Given the description of an element on the screen output the (x, y) to click on. 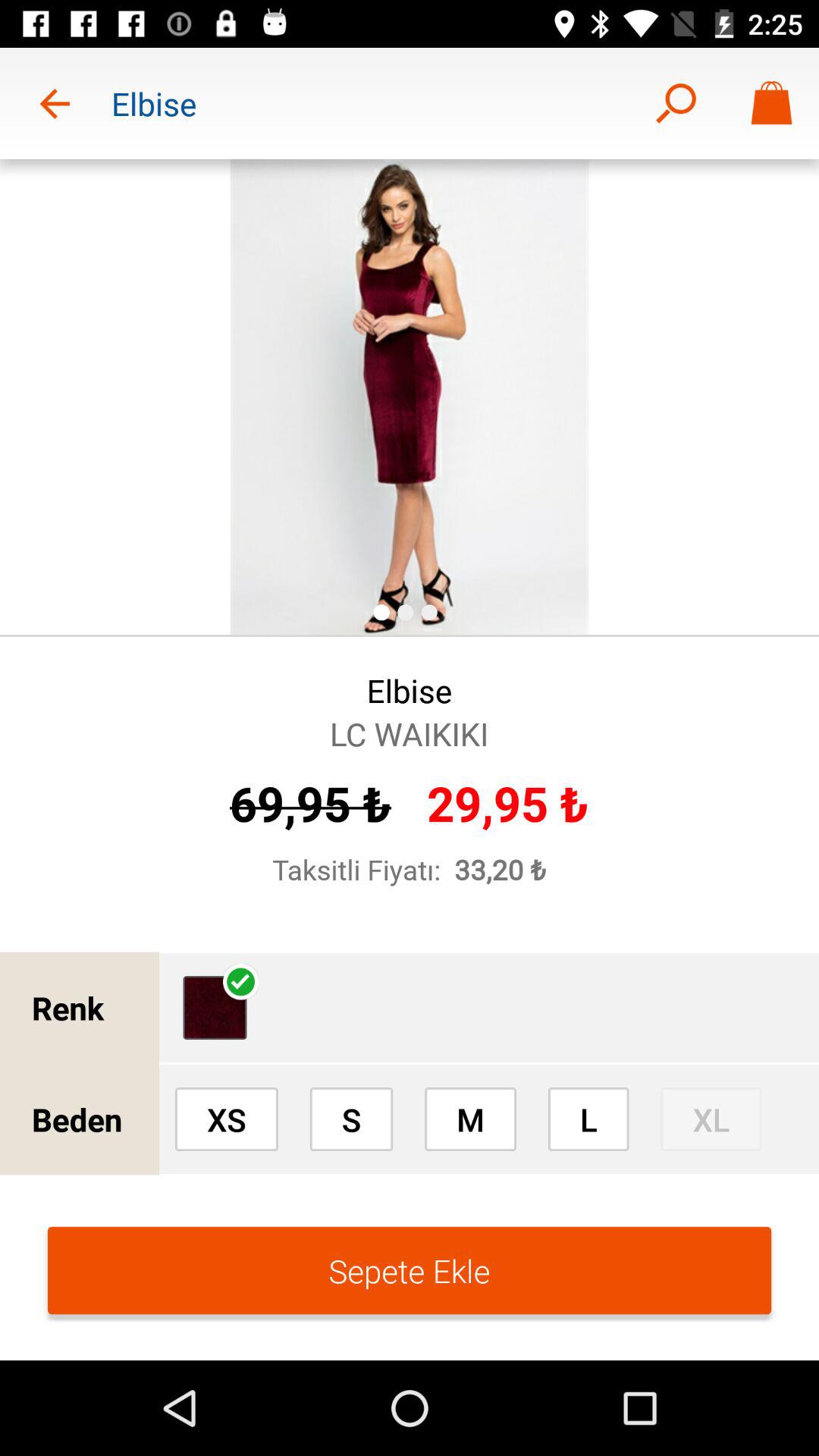
option right to s in beden row (470, 1119)
click on the text which is beside m (588, 1119)
go to the shopping cart icon (771, 103)
click on xs (226, 1119)
select maroon color box (215, 1007)
